Given the description of an element on the screen output the (x, y) to click on. 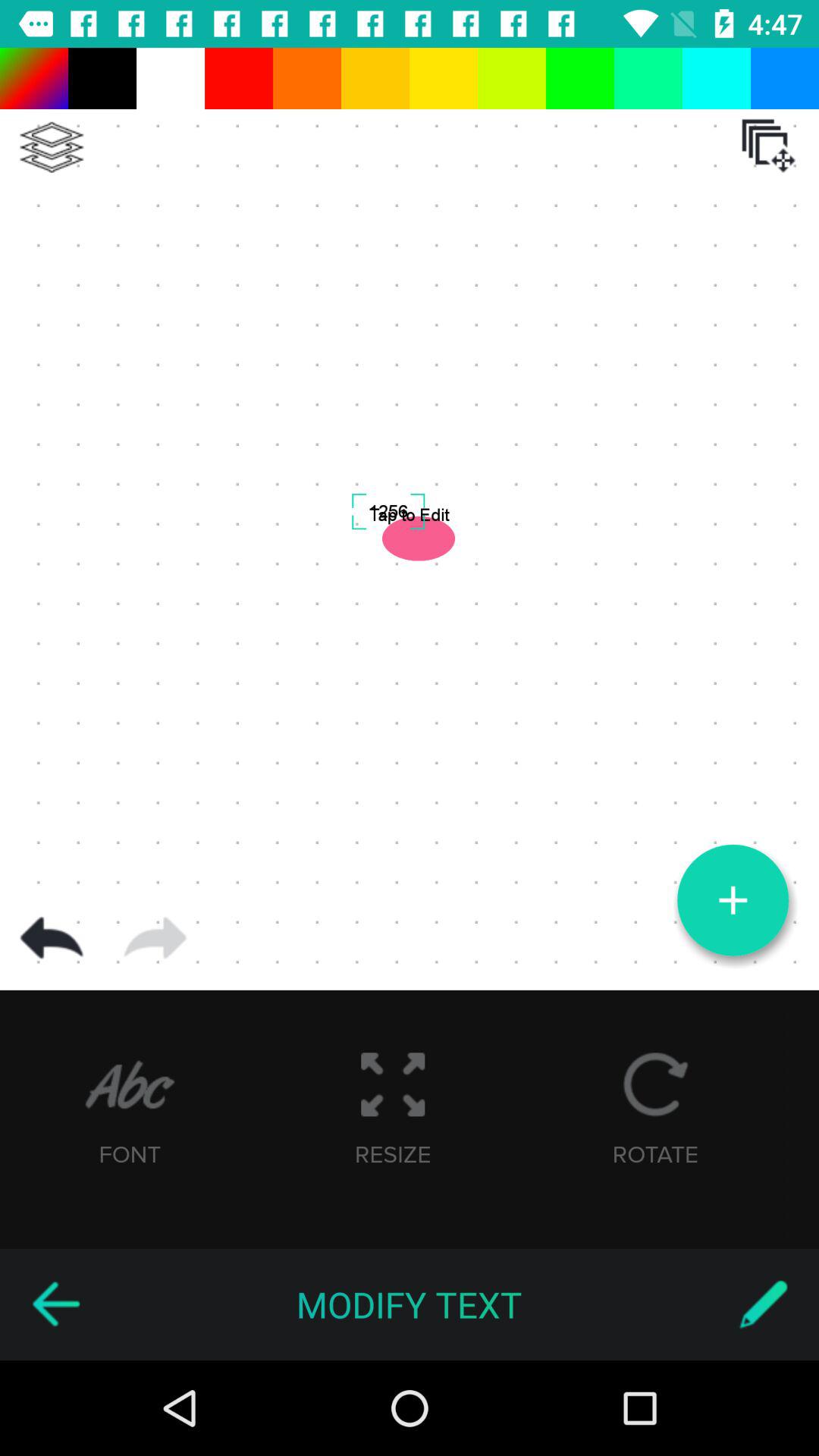
switch to stylus writing (763, 1304)
